Given the description of an element on the screen output the (x, y) to click on. 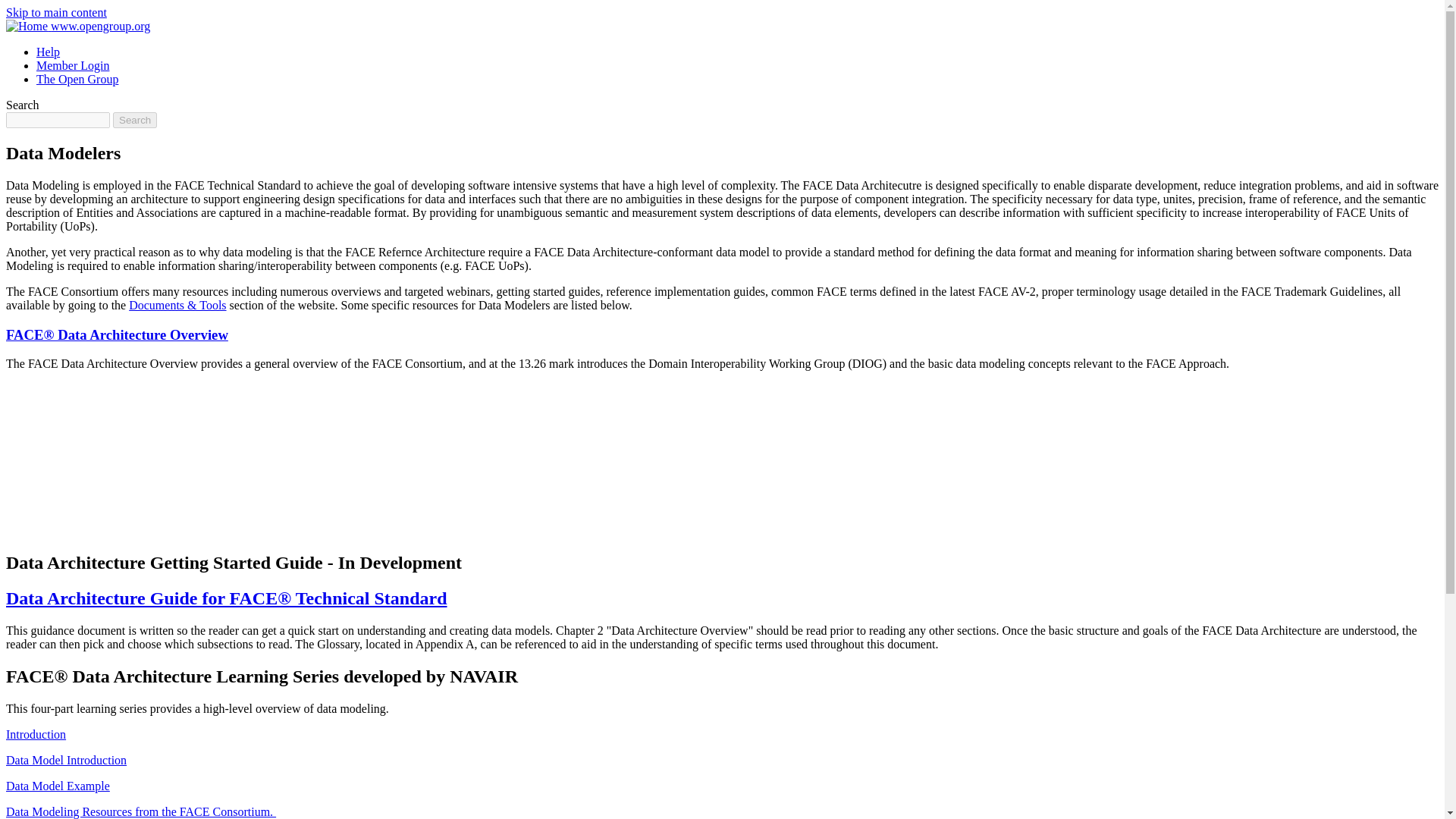
Enter the terms you wish to search for. (57, 119)
Member Login (72, 65)
Data Model Example (57, 785)
Skip to main content (55, 11)
Data Modeling Resources from the FACE Consortium.  (140, 811)
The Open Group (76, 78)
Search (135, 119)
Data Model Introduction (65, 759)
Help (47, 51)
Home (77, 25)
